Given the description of an element on the screen output the (x, y) to click on. 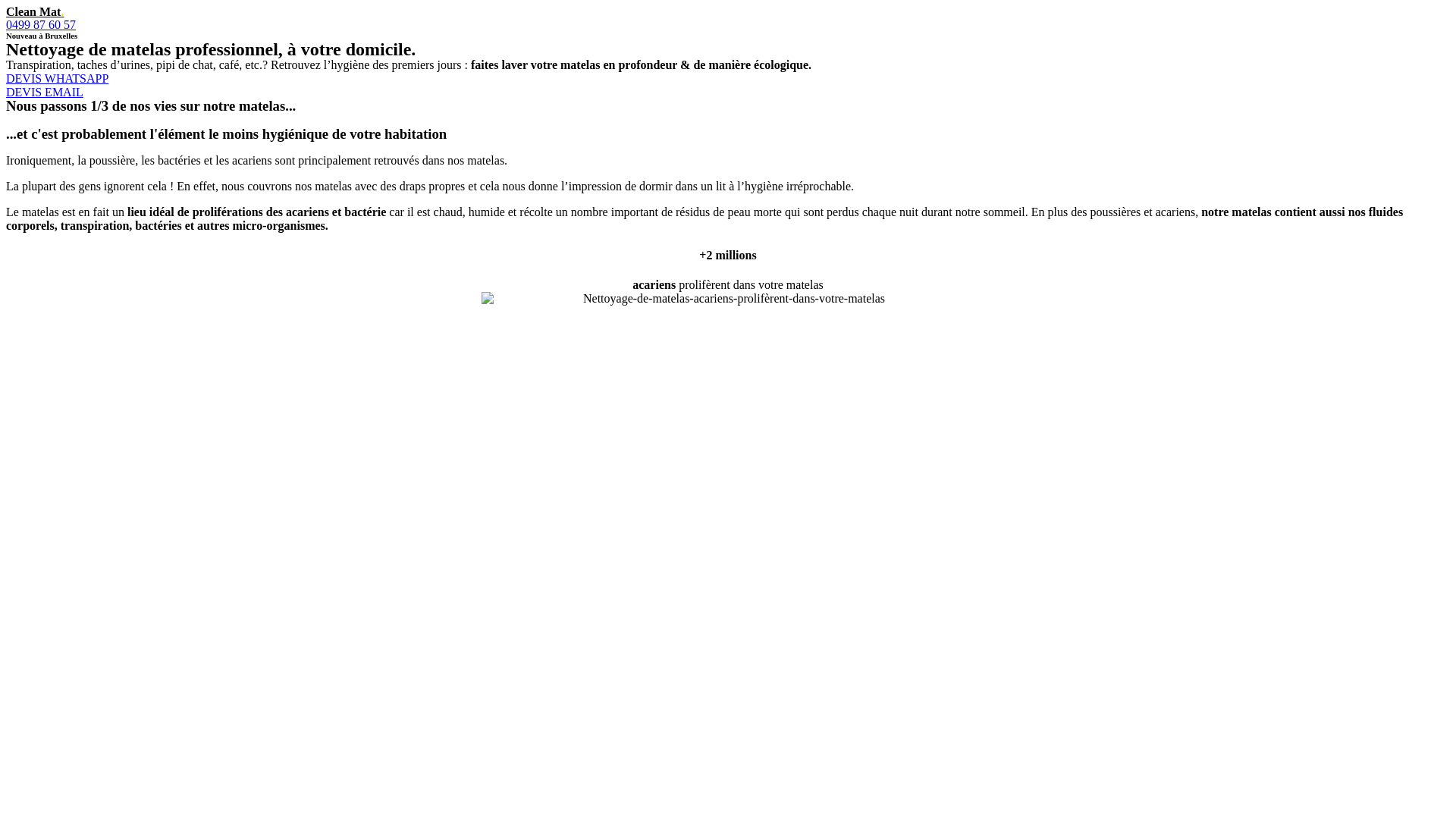
DEVIS WHATSAPP Element type: text (57, 78)
DEVIS EMAIL Element type: text (44, 91)
0499 87 60 57 Element type: text (40, 24)
Clean Mat. Element type: text (34, 11)
